Given the description of an element on the screen output the (x, y) to click on. 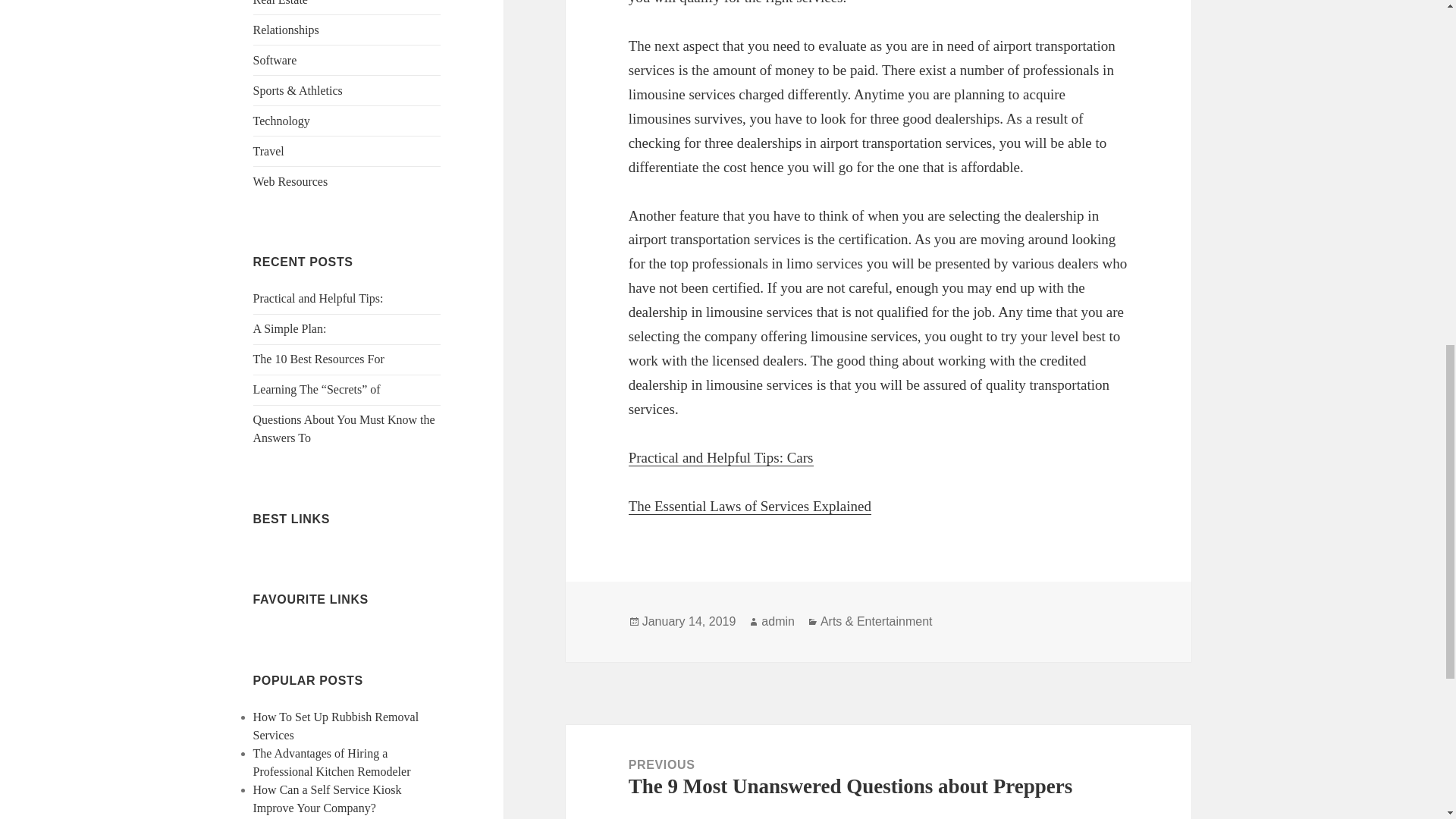
A Simple Plan: (289, 328)
Technology (281, 120)
Real Estate (280, 2)
How To Set Up Rubbish Removal Services (336, 726)
How Can a Self Service Kiosk Improve Your Company? (327, 798)
Travel (268, 151)
The Advantages of Hiring a Professional Kitchen Remodeler (331, 762)
Questions About You Must Know the Answers To (344, 428)
The Advantages of Hiring a Professional Kitchen Remodeler (331, 762)
How To Set Up Rubbish Removal Services (336, 726)
Web Resources (291, 181)
Software (275, 60)
Relationships (285, 29)
The 10 Best Resources For (318, 358)
Practical and Helpful Tips: (318, 297)
